Given the description of an element on the screen output the (x, y) to click on. 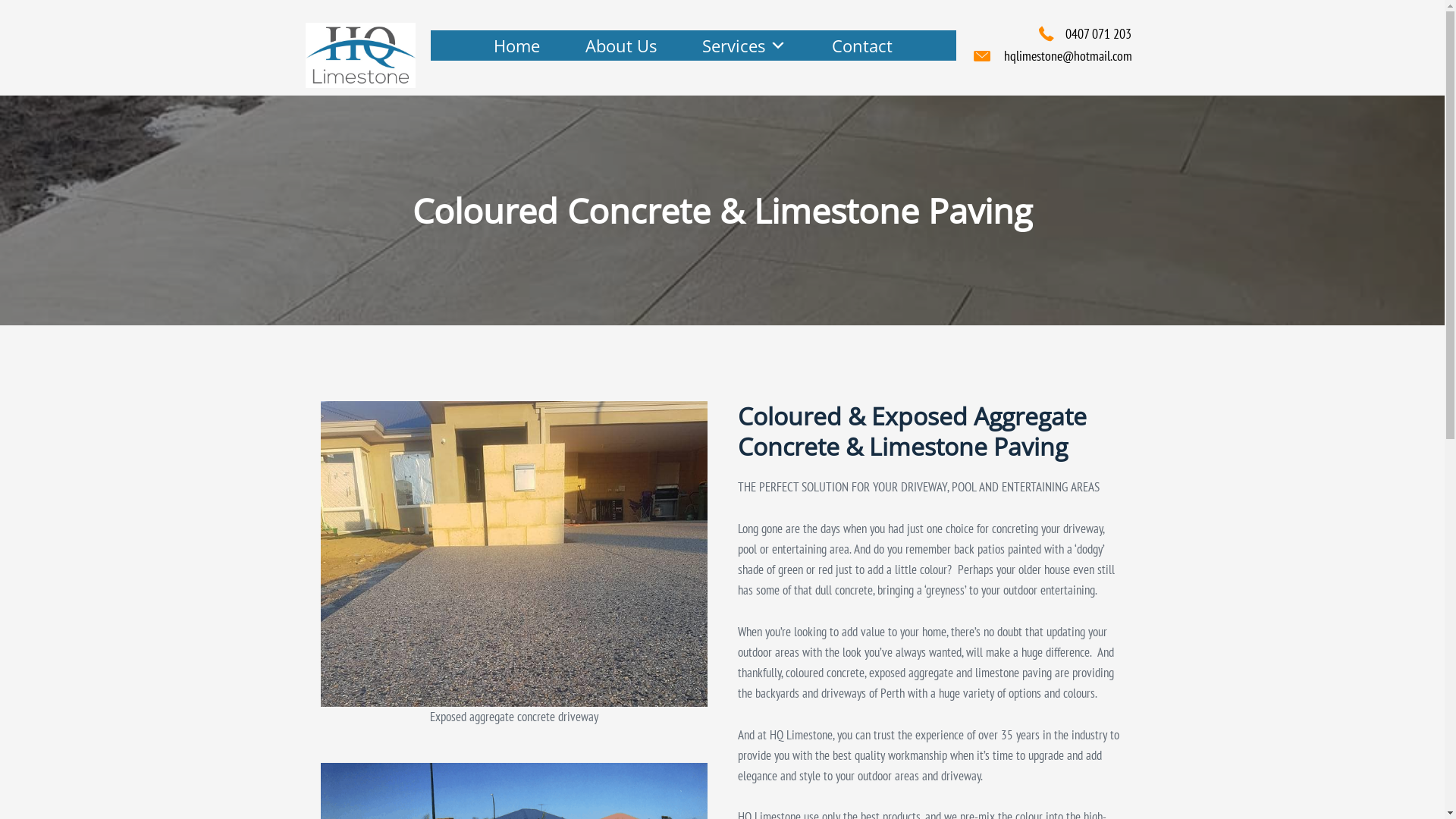
hqlimestone@hotmail.com Element type: text (1068, 55)
Services Element type: text (744, 45)
About Us Element type: text (620, 45)
Home Element type: text (516, 45)
Contact Element type: text (862, 45)
Coloured Concrete & Limestone Paving Element type: hover (513, 553)
logo 1 Element type: hover (359, 54)
0407 071 203 Element type: text (1097, 33)
